Given the description of an element on the screen output the (x, y) to click on. 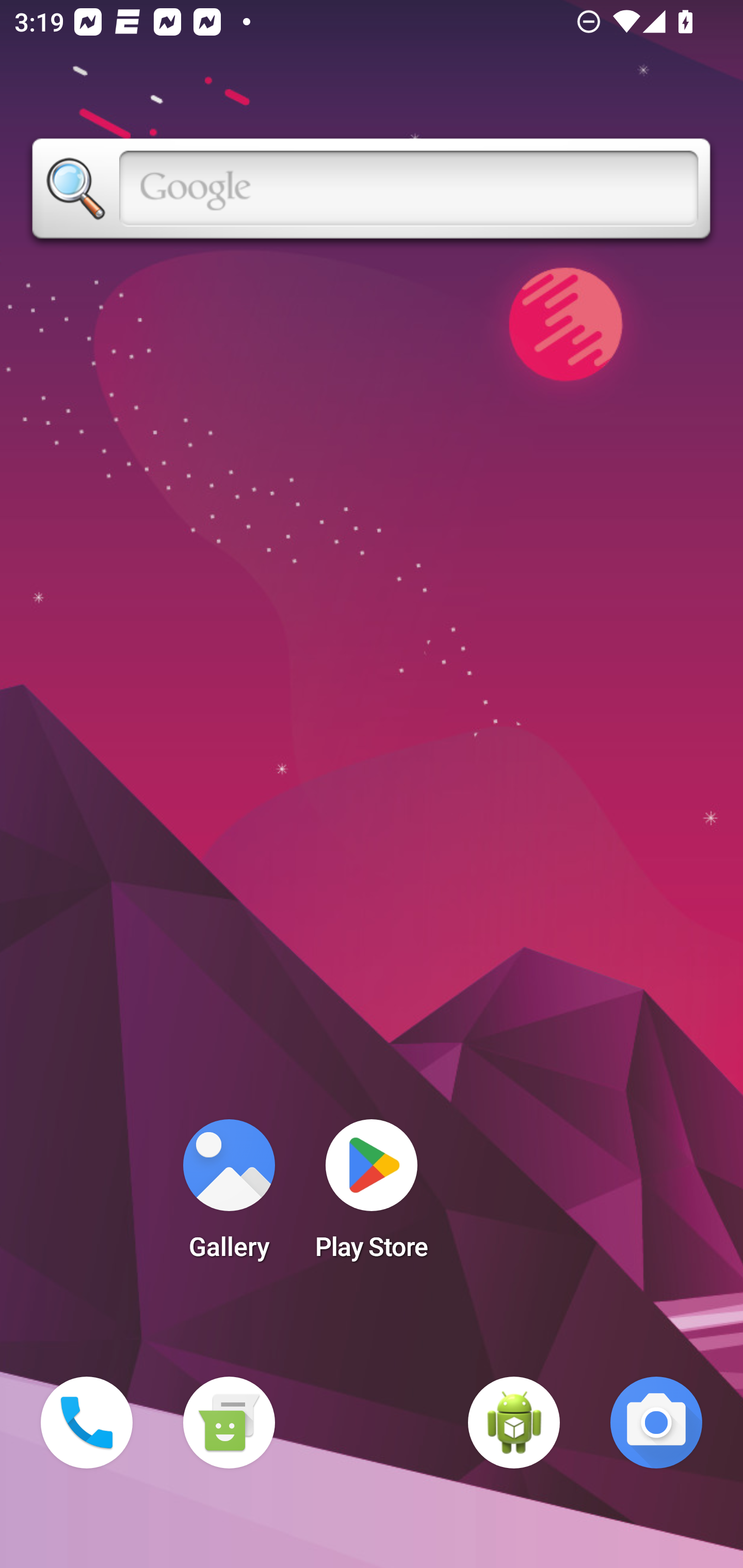
Gallery (228, 1195)
Play Store (371, 1195)
Phone (86, 1422)
Messaging (228, 1422)
WebView Browser Tester (513, 1422)
Camera (656, 1422)
